Given the description of an element on the screen output the (x, y) to click on. 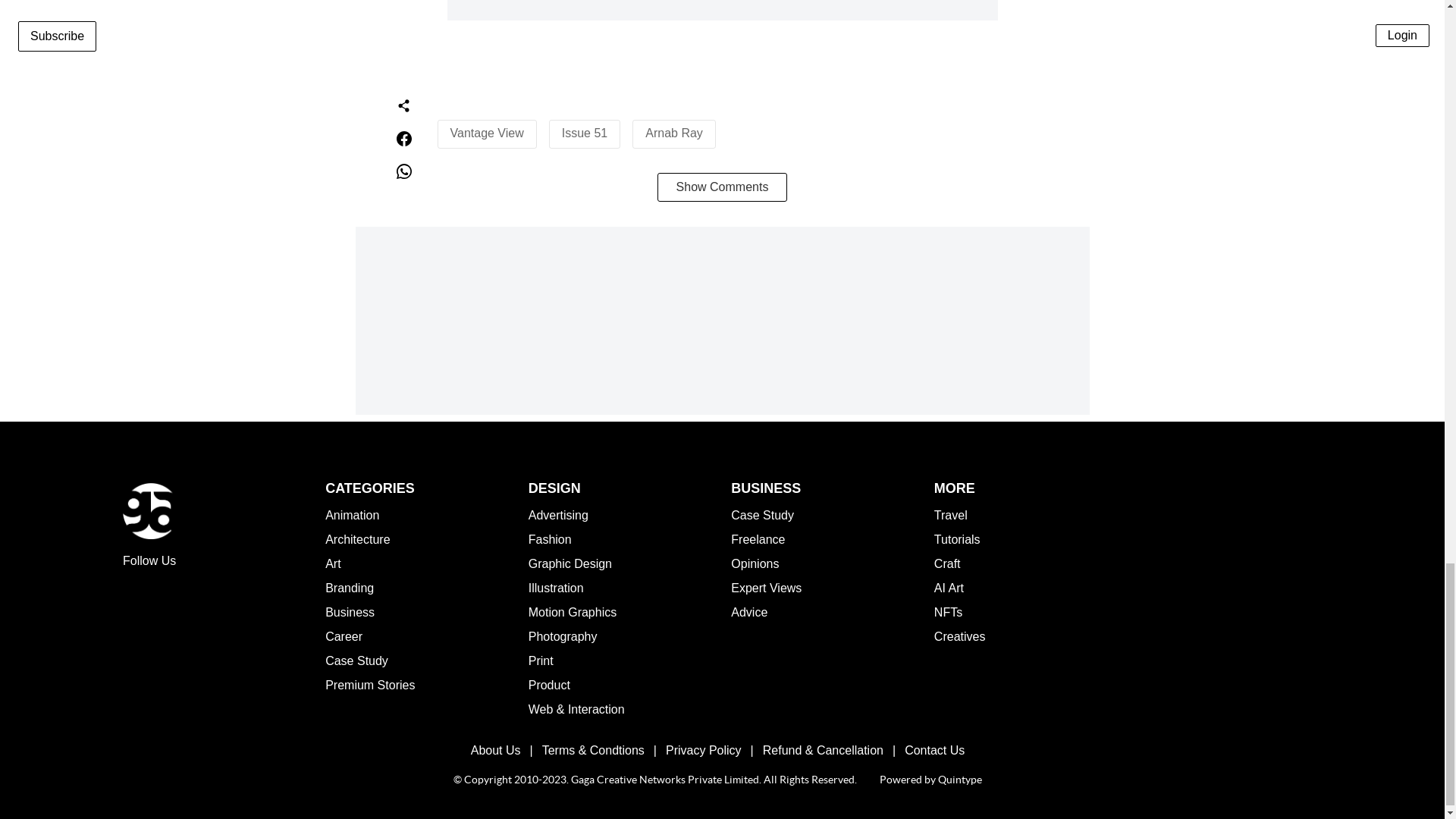
Issue 51 (584, 132)
Arnab Ray (674, 132)
Architecture (357, 539)
Vantage View (486, 132)
Animation (351, 514)
Show Comments (722, 186)
